Given the description of an element on the screen output the (x, y) to click on. 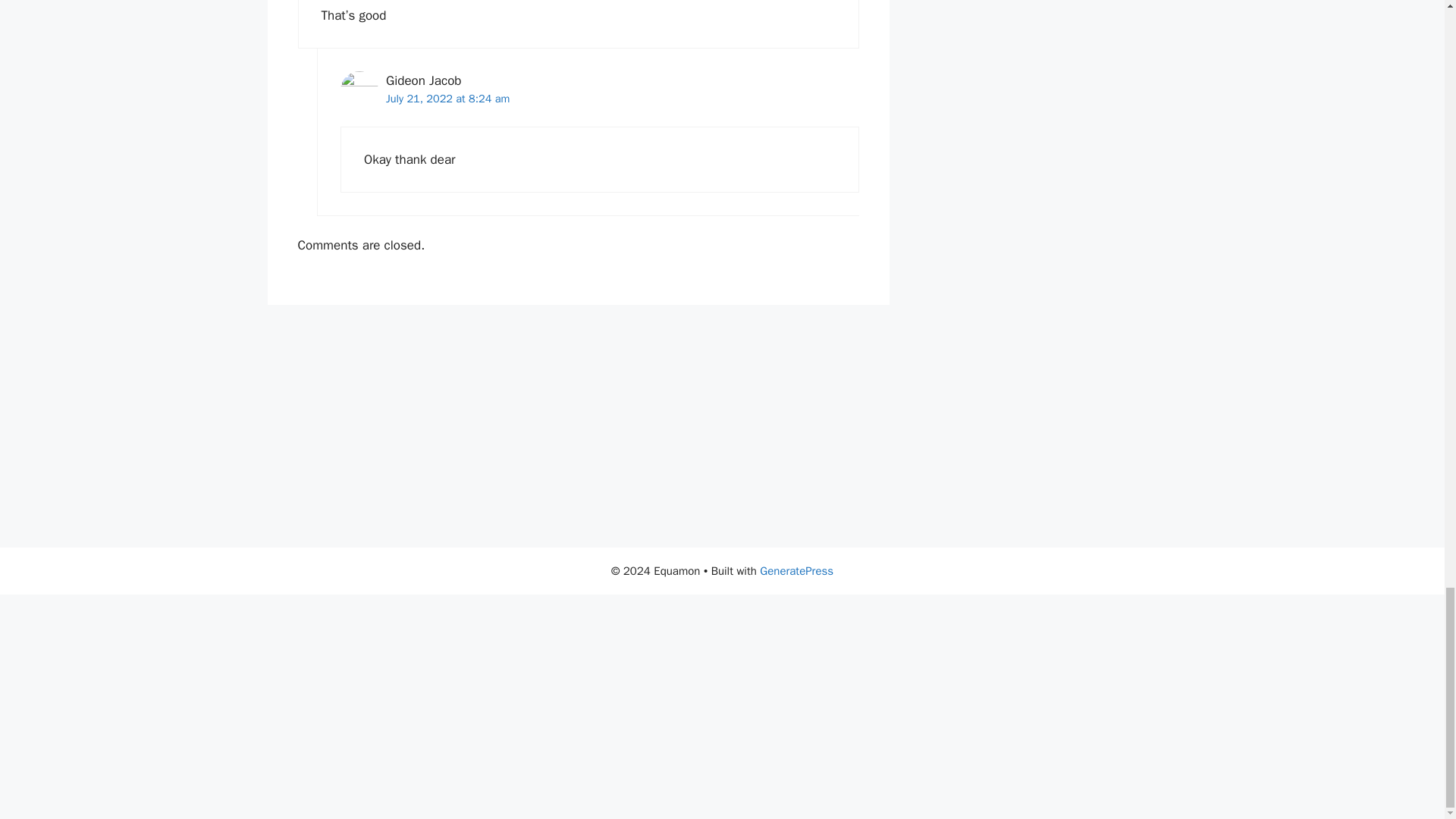
July 21, 2022 at 8:24 am (447, 98)
GeneratePress (796, 571)
Advertisement (577, 426)
